Given the description of an element on the screen output the (x, y) to click on. 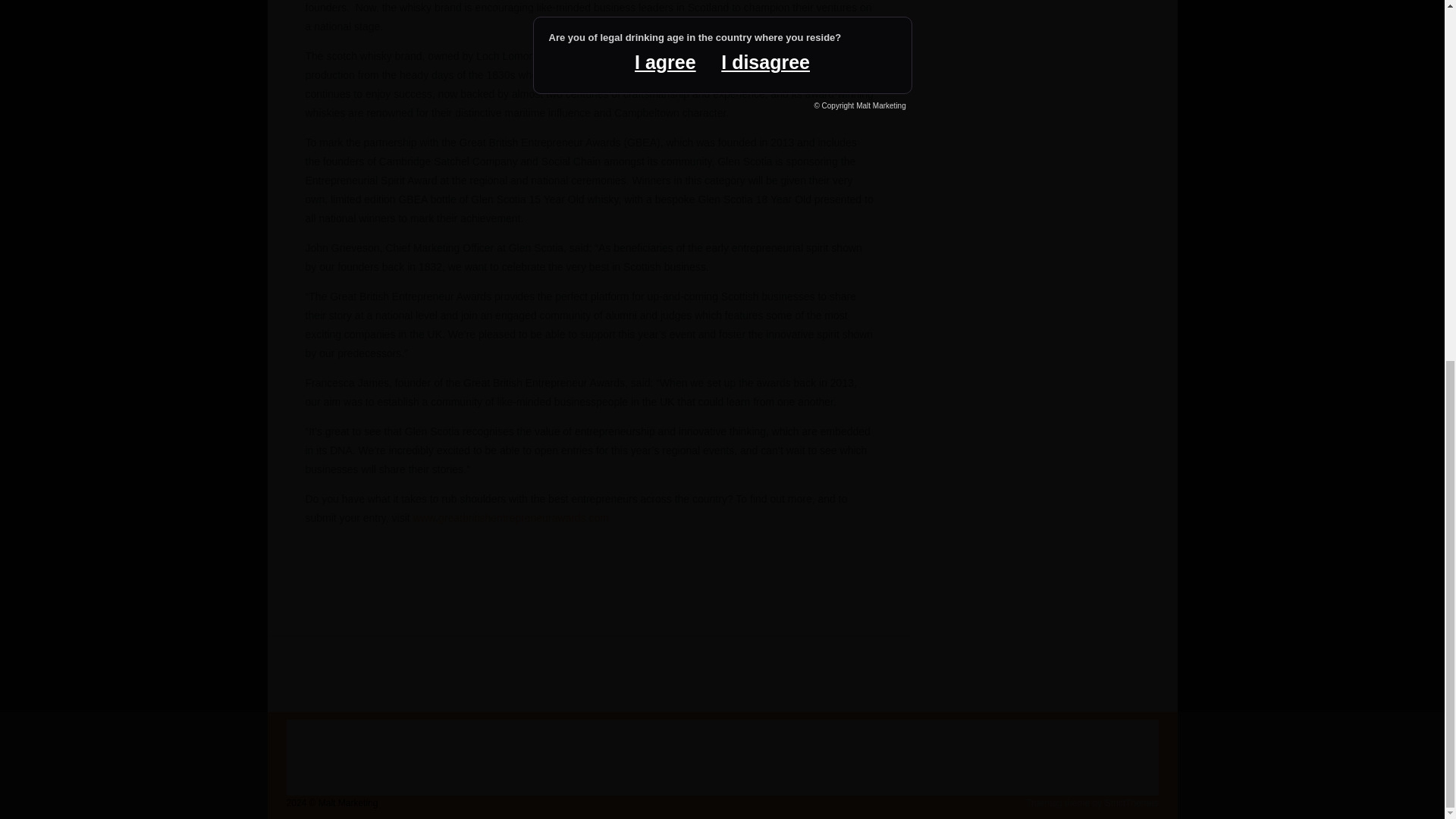
www.greatbritishentrepreneurawards.com (510, 517)
StrictThemes (1131, 802)
